Given the description of an element on the screen output the (x, y) to click on. 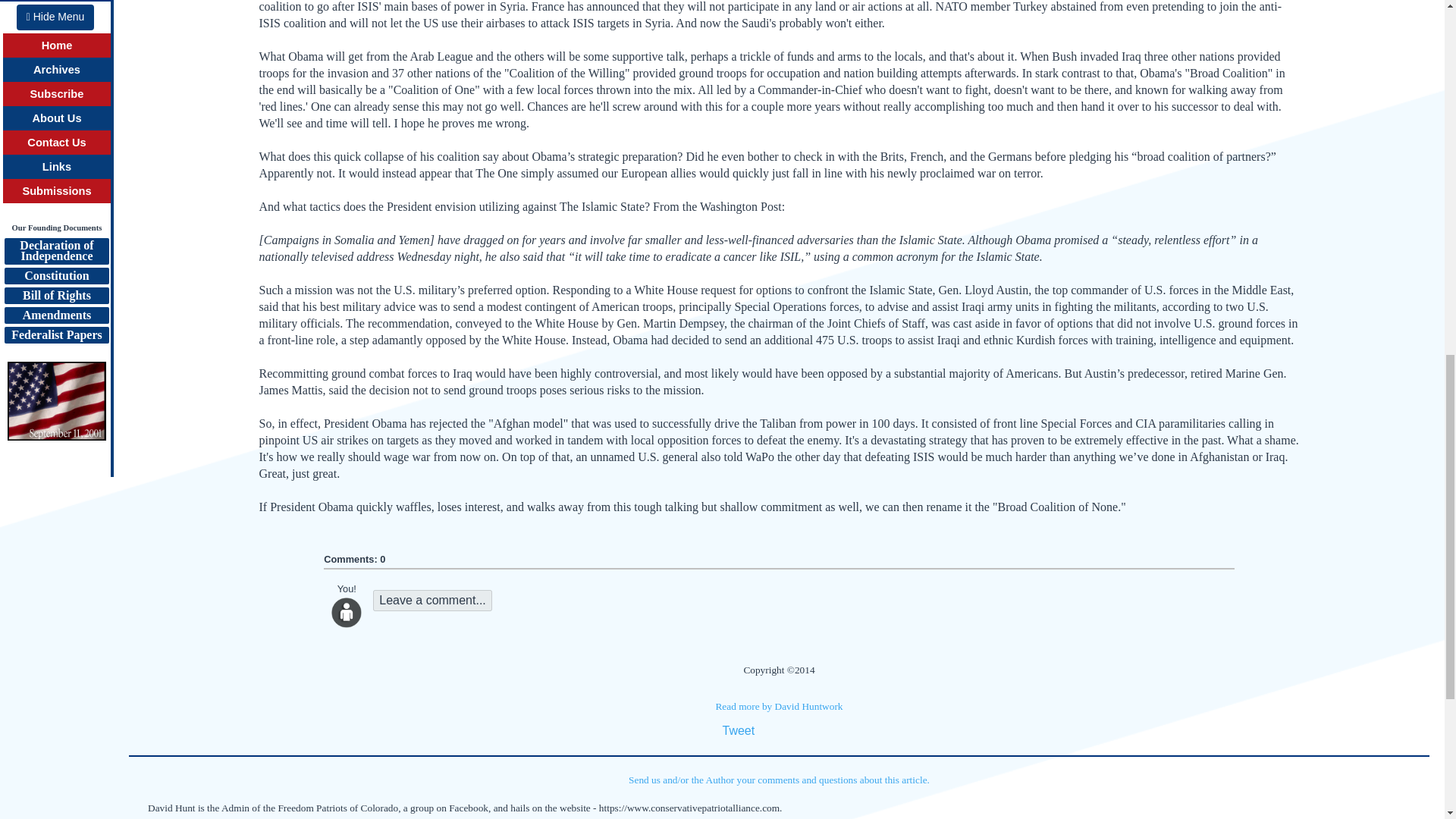
Leave a comment... (432, 599)
Read more by David Huntwork (778, 706)
Tweet (738, 730)
